Given the description of an element on the screen output the (x, y) to click on. 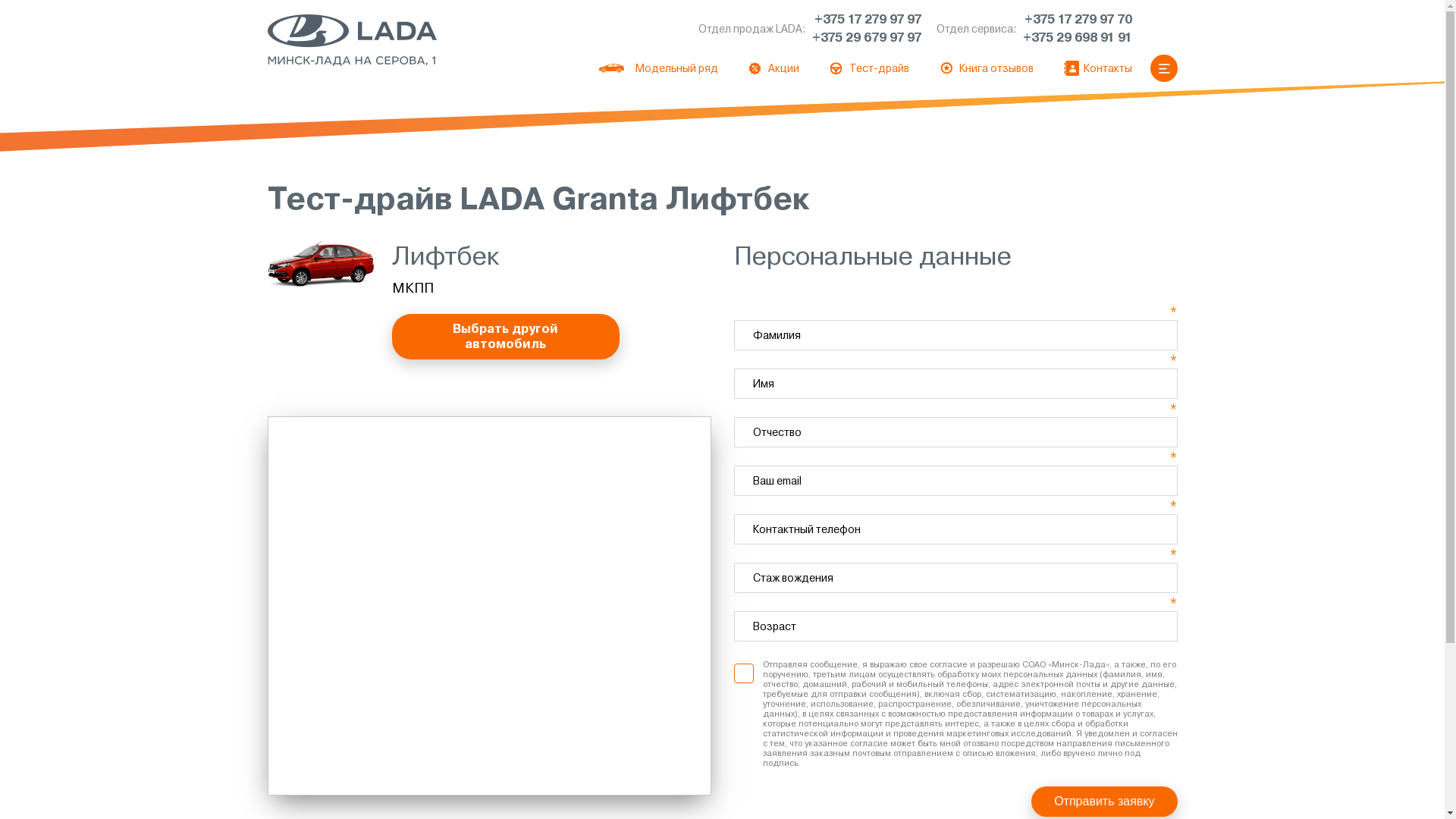
+375 17 279 97 97 Element type: text (865, 19)
+375 29 679 97 97 Element type: text (865, 37)
+375 17 279 97 70 Element type: text (1076, 19)
+375 29 698 91 91 Element type: text (1076, 37)
